Given the description of an element on the screen output the (x, y) to click on. 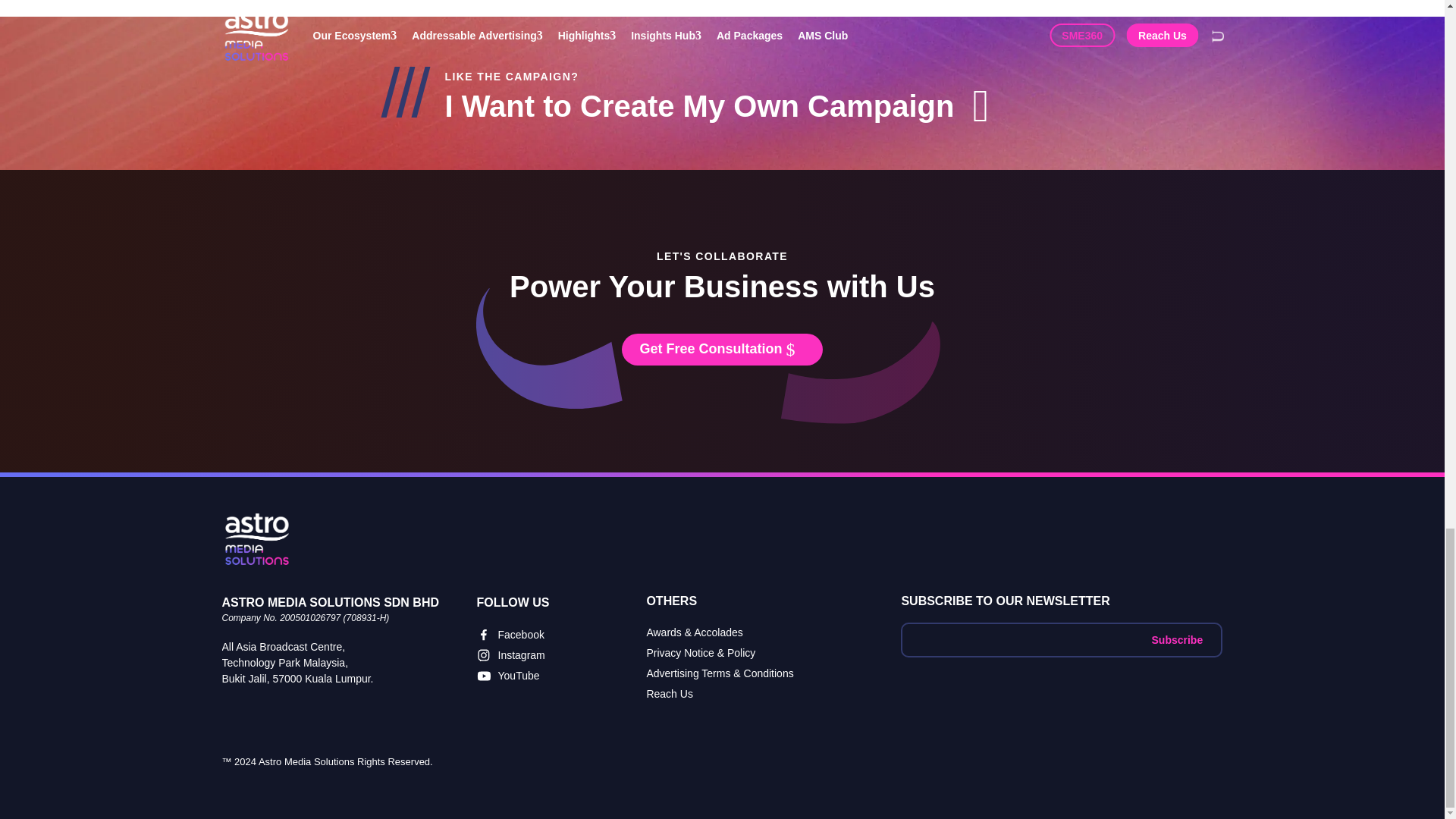
Subscribe (1177, 639)
